Given the description of an element on the screen output the (x, y) to click on. 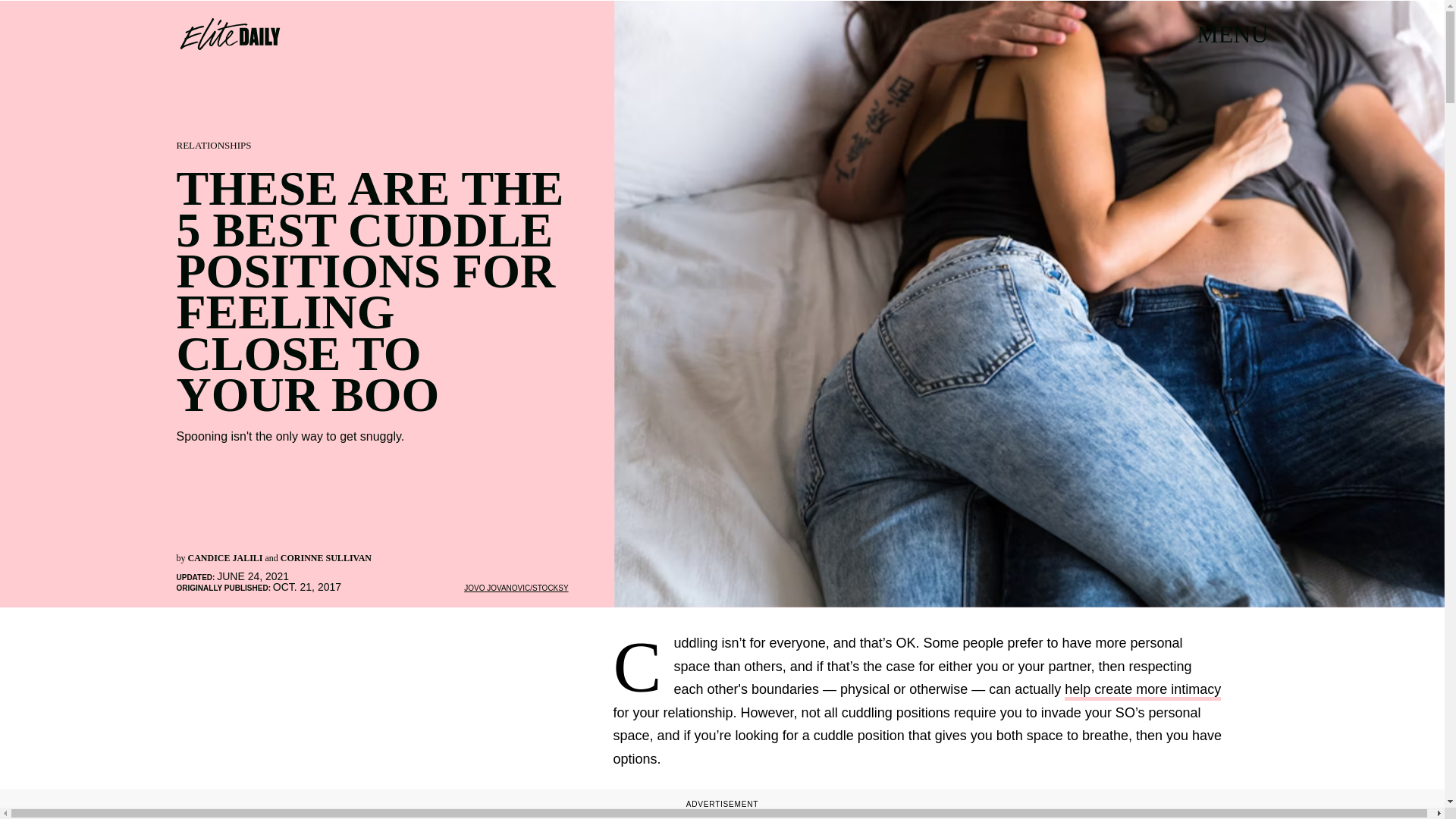
help create more intimacy (1142, 691)
Elite Daily (229, 33)
CORINNE SULLIVAN (326, 557)
